Given the description of an element on the screen output the (x, y) to click on. 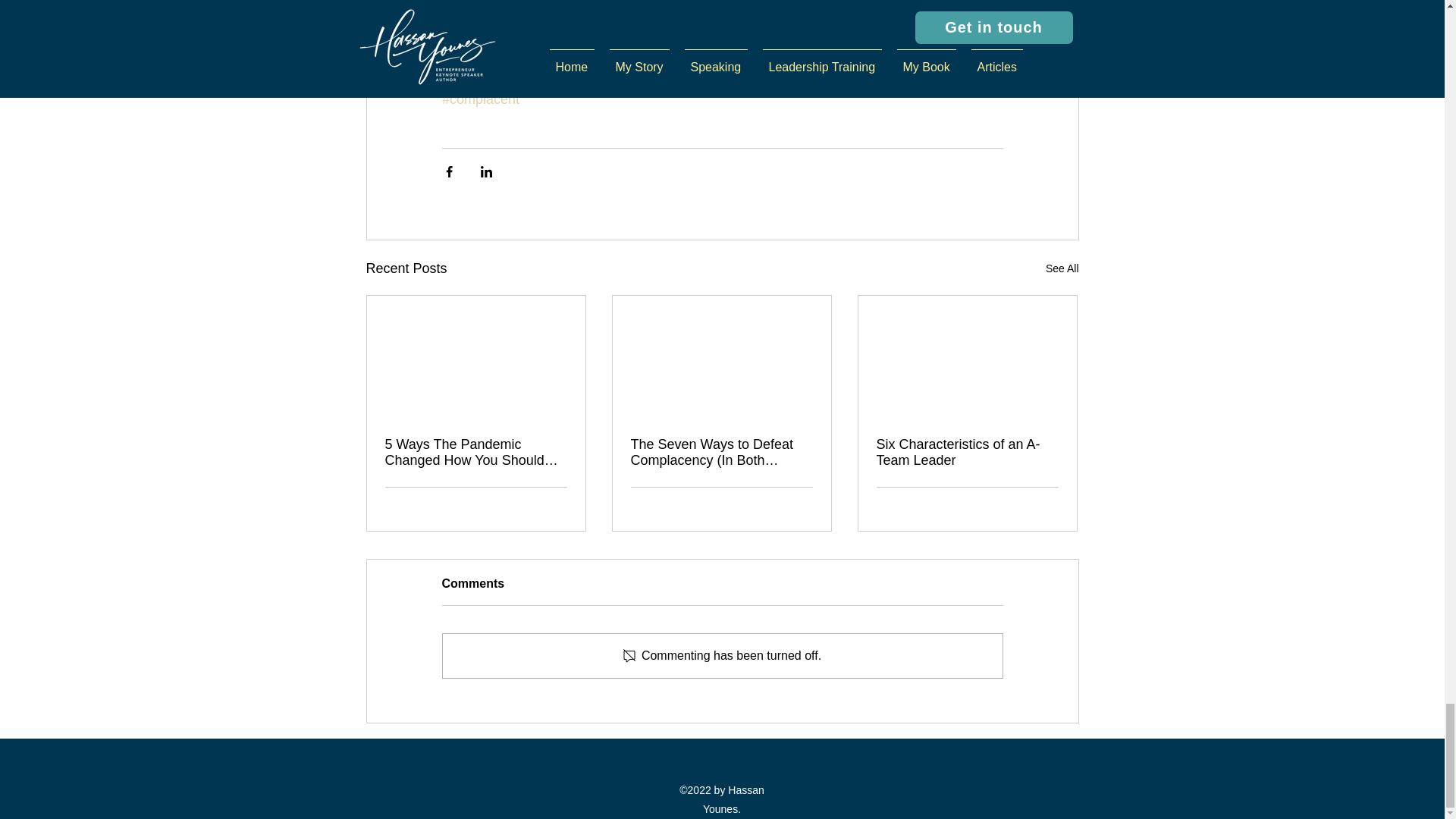
See All (1061, 268)
